Given the description of an element on the screen output the (x, y) to click on. 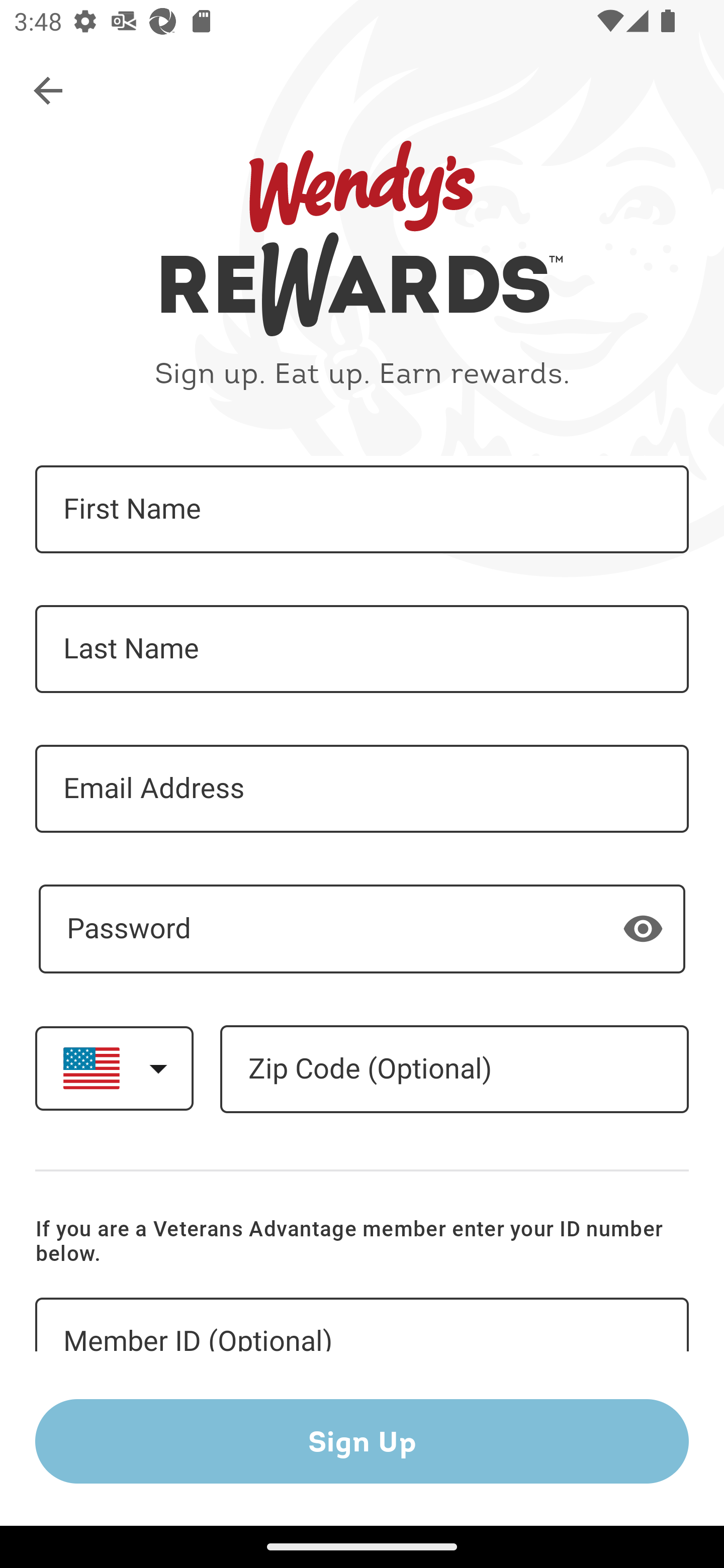
Navigate up (49, 91)
First Name - Required (361, 509)
Last Name - Required (361, 649)
Email Address - Required (361, 788)
- Required (361, 928)
Show password (642, 927)
Zip Code – Optional (454, 1069)
Select a country. United States selected. (114, 1067)
Veterans Advantage ID – Optional (361, 1324)
Sign Up (361, 1440)
